Given the description of an element on the screen output the (x, y) to click on. 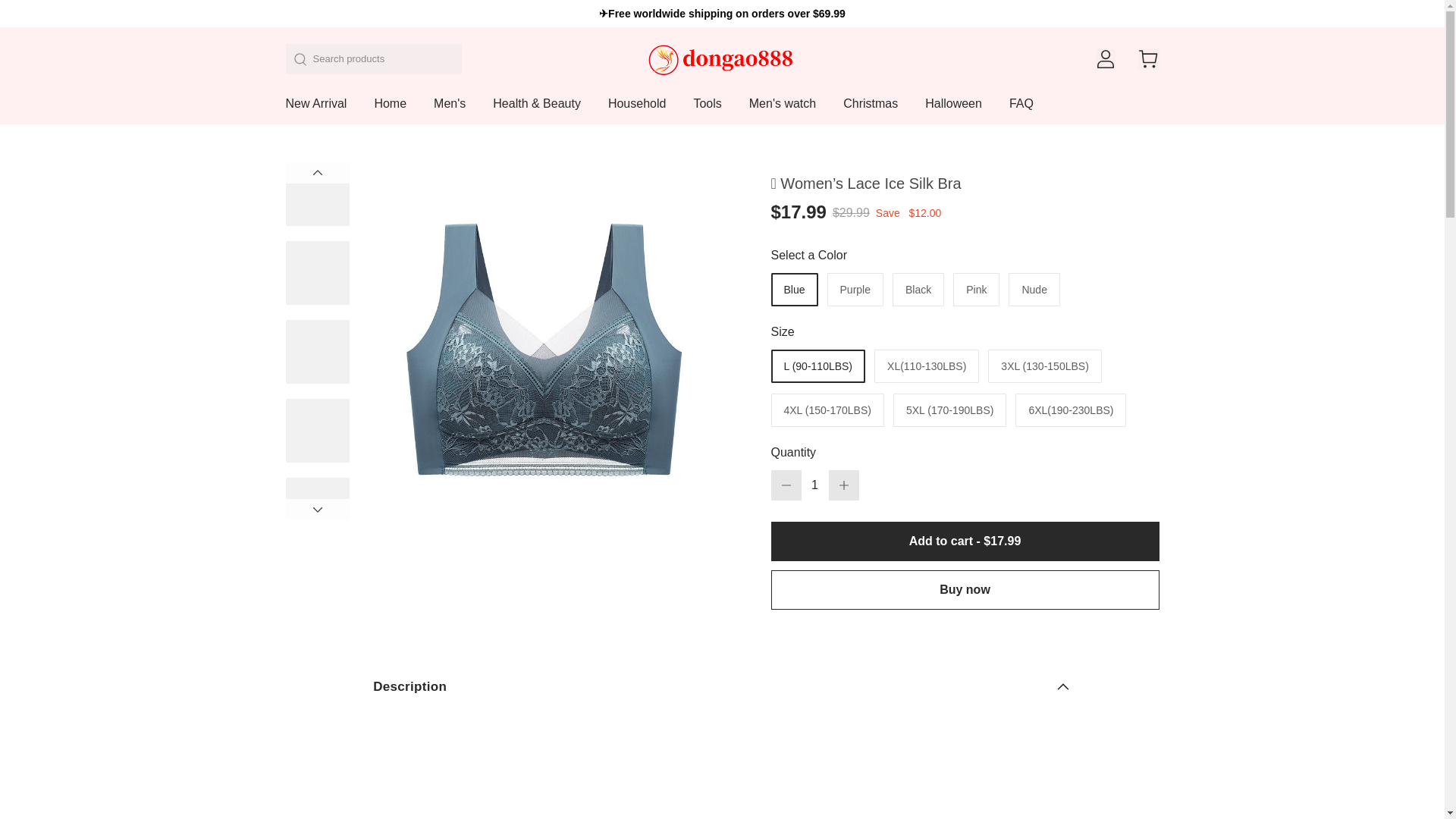
1 (814, 485)
Halloween (952, 110)
New Arrival (315, 110)
Men's (449, 110)
Tools (706, 110)
Christmas (870, 110)
Home (390, 110)
Men's watch (782, 110)
Household (637, 110)
